Given the description of an element on the screen output the (x, y) to click on. 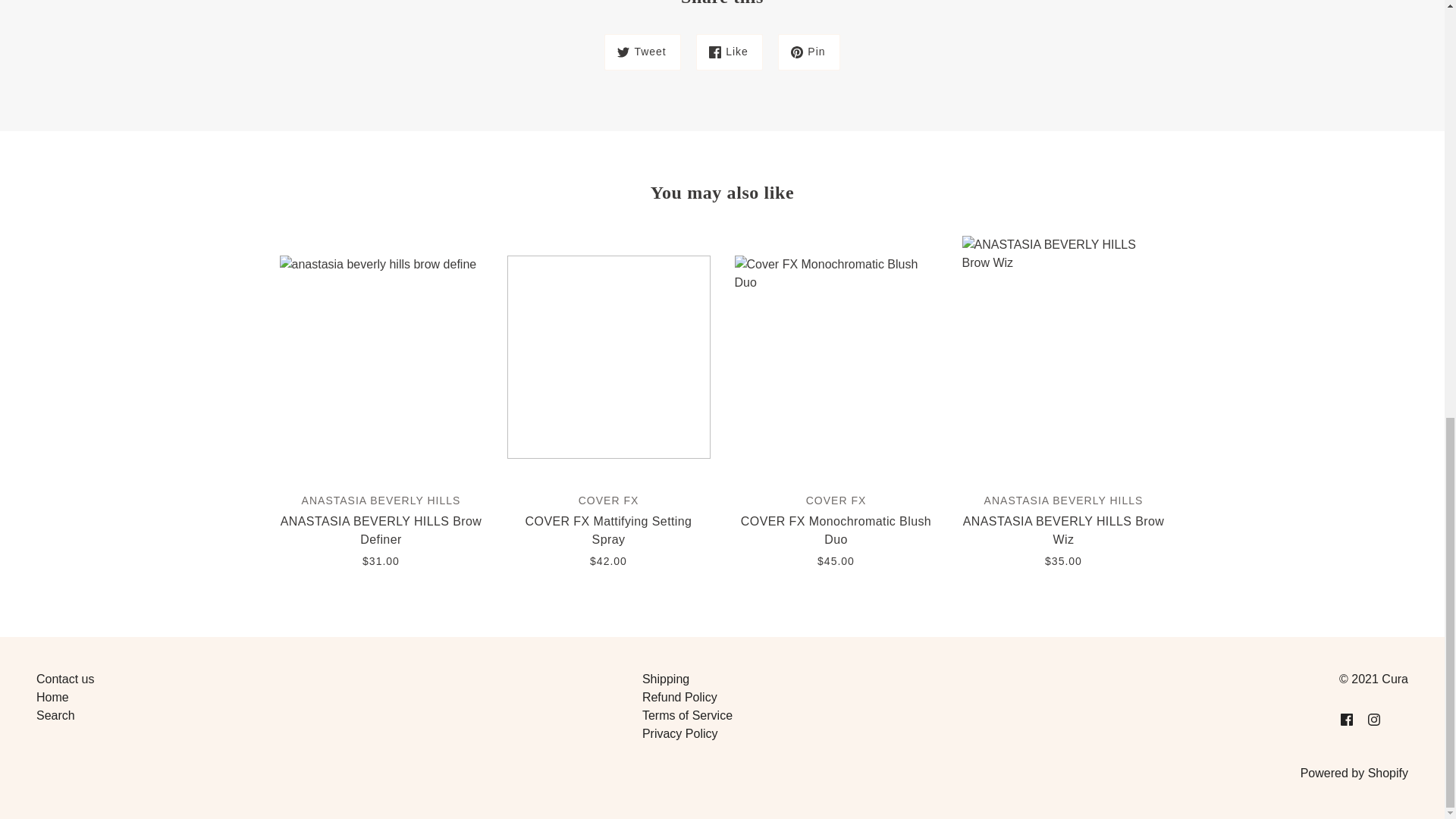
Home (52, 697)
Terms of Service (687, 715)
Refund Policy (679, 697)
Shipping  (665, 678)
Search (55, 715)
Privacy Policy (679, 733)
Contact us (65, 678)
